Given the description of an element on the screen output the (x, y) to click on. 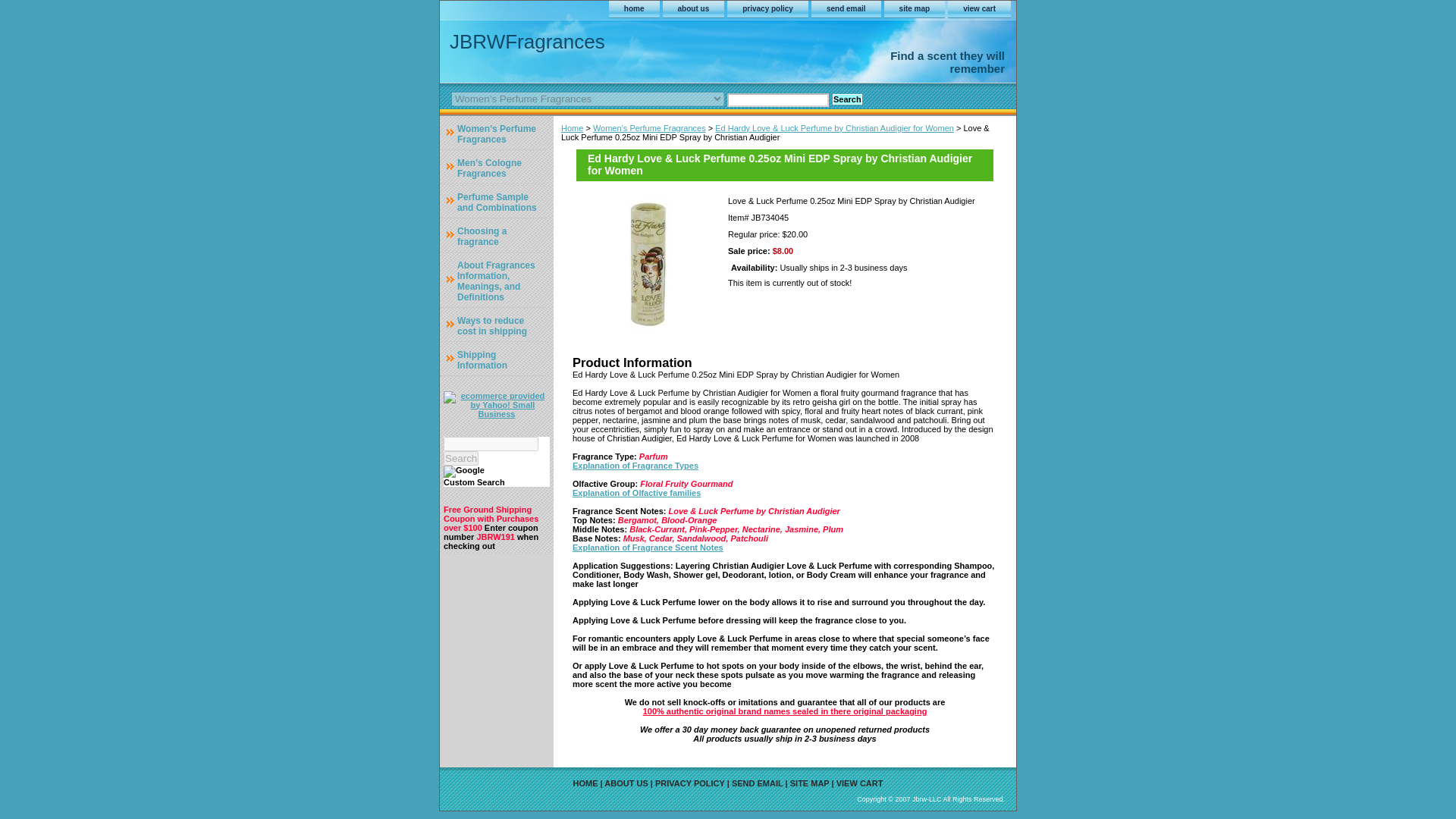
JBRWFragrances (628, 41)
Explanation of Fragrance Scent Notes (647, 547)
view cart (978, 9)
ABOUT US (625, 782)
Explanation of Olfactive families (636, 492)
Search (846, 99)
Ways to reduce cost in shipping (492, 324)
Choosing a fragrance (492, 235)
home (633, 9)
send email (845, 9)
Search (461, 457)
Search (461, 457)
SITE MAP (809, 782)
SEND EMAIL (757, 782)
Perfume Sample and Combinations (492, 200)
